Given the description of an element on the screen output the (x, y) to click on. 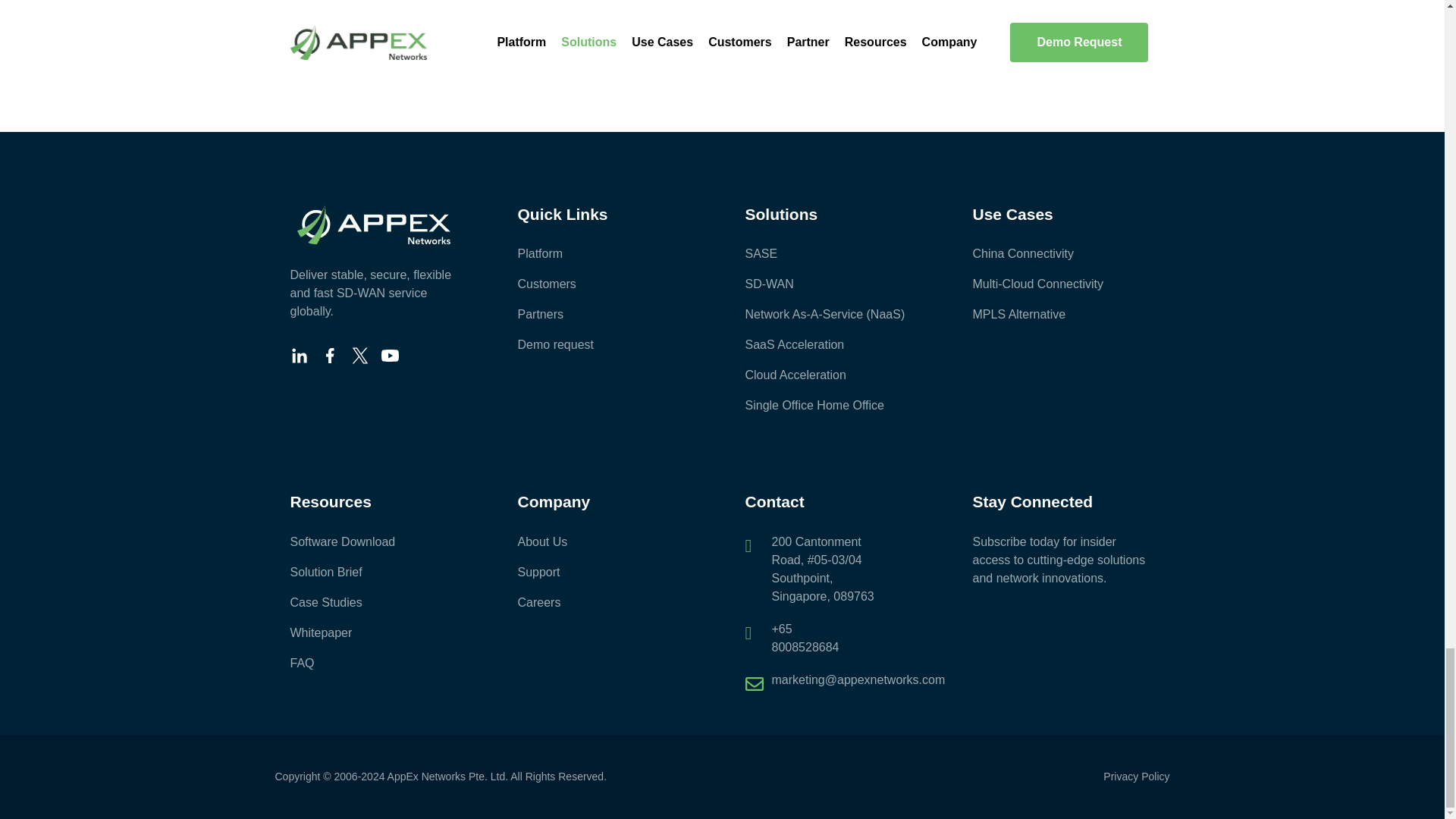
Partners (607, 314)
Download Now (418, 35)
Customers (607, 284)
Platform (607, 253)
Download Now (721, 35)
Download Now (1024, 35)
